Given the description of an element on the screen output the (x, y) to click on. 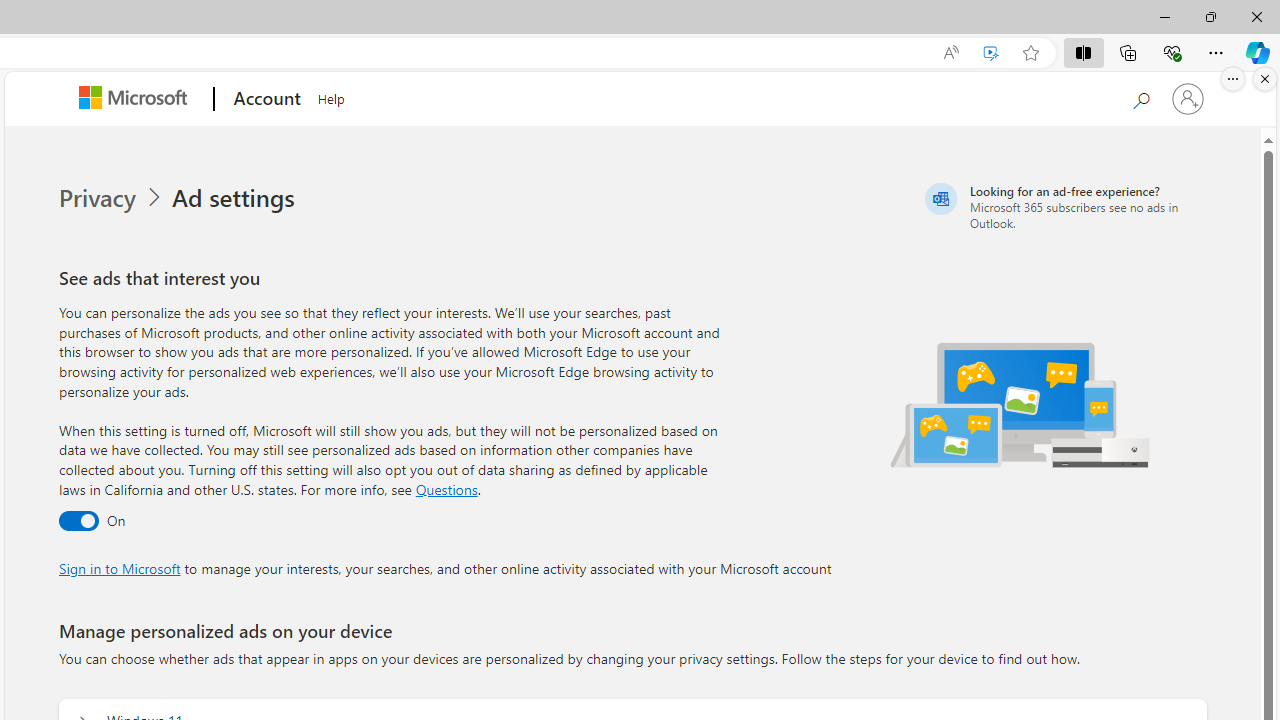
Privacy (112, 197)
Privacy (98, 197)
Help (331, 96)
Sign in to Microsoft (119, 568)
Ad settings toggle (78, 521)
Go to Questions section (445, 488)
Looking for an ad-free experience? (1063, 206)
Illustration of multiple devices (1021, 403)
